Given the description of an element on the screen output the (x, y) to click on. 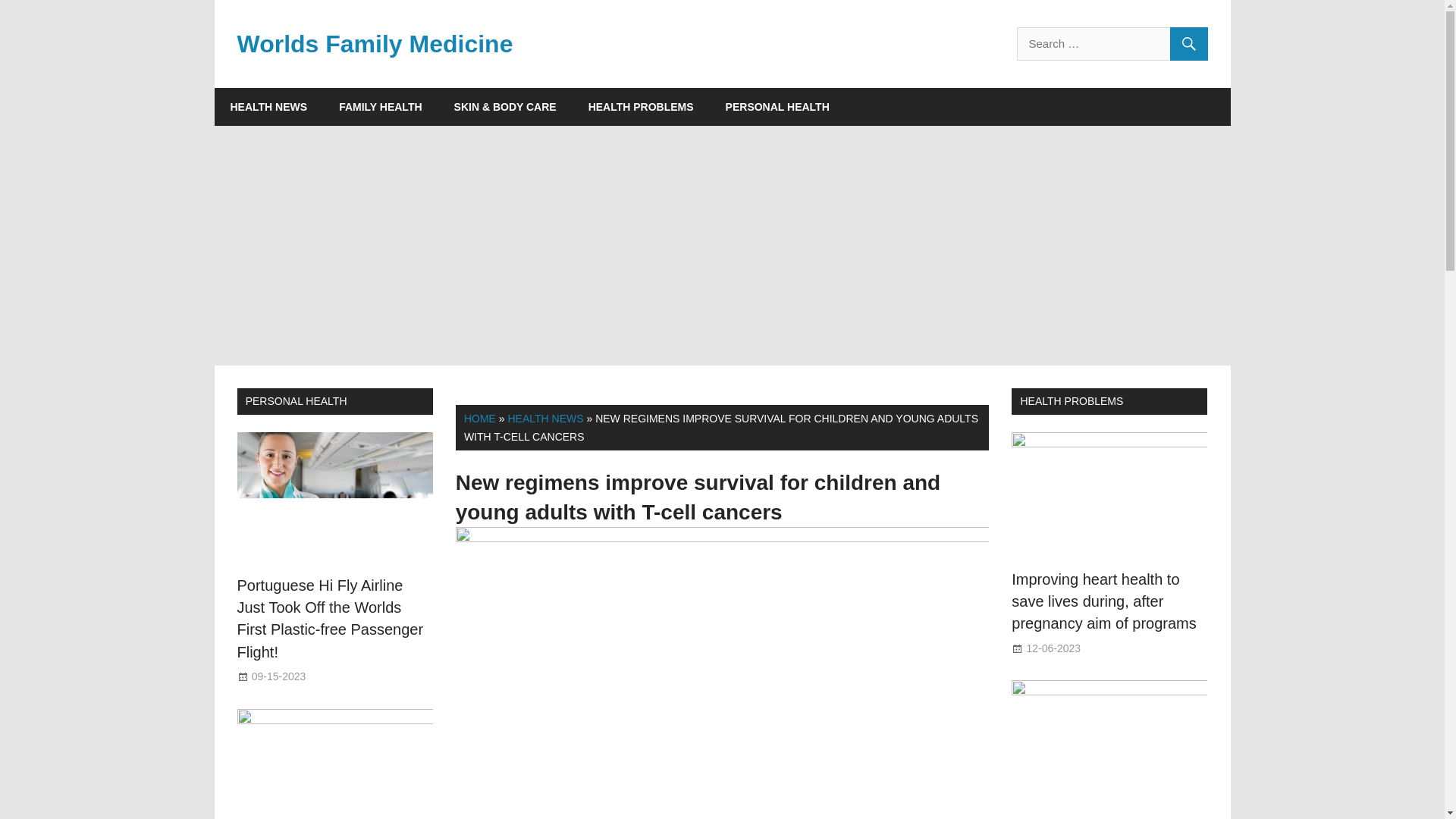
PERSONAL HEALTH (777, 106)
Search for: (1111, 43)
View all posts from category Health Problems (1071, 400)
View all posts from category Personal Health (296, 400)
HOME (480, 418)
Worlds Family Medicine (373, 43)
PERSONAL HEALTH (296, 400)
HEALTH NEWS (268, 106)
22:40 (1053, 648)
